Given the description of an element on the screen output the (x, y) to click on. 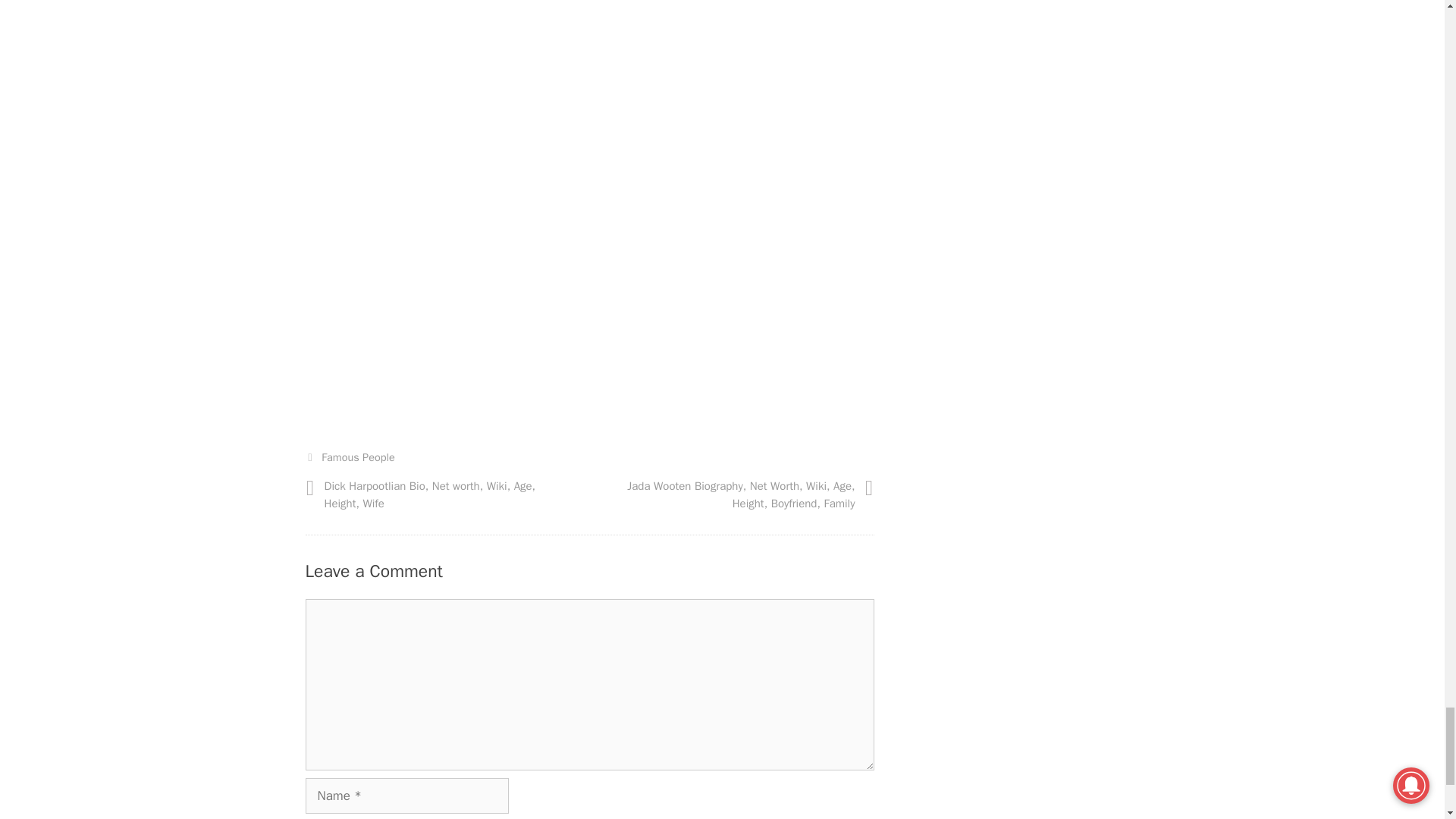
Famous People (357, 457)
Dick Harpootlian Bio, Net worth, Wiki, Age, Height, Wife (429, 494)
